Given the description of an element on the screen output the (x, y) to click on. 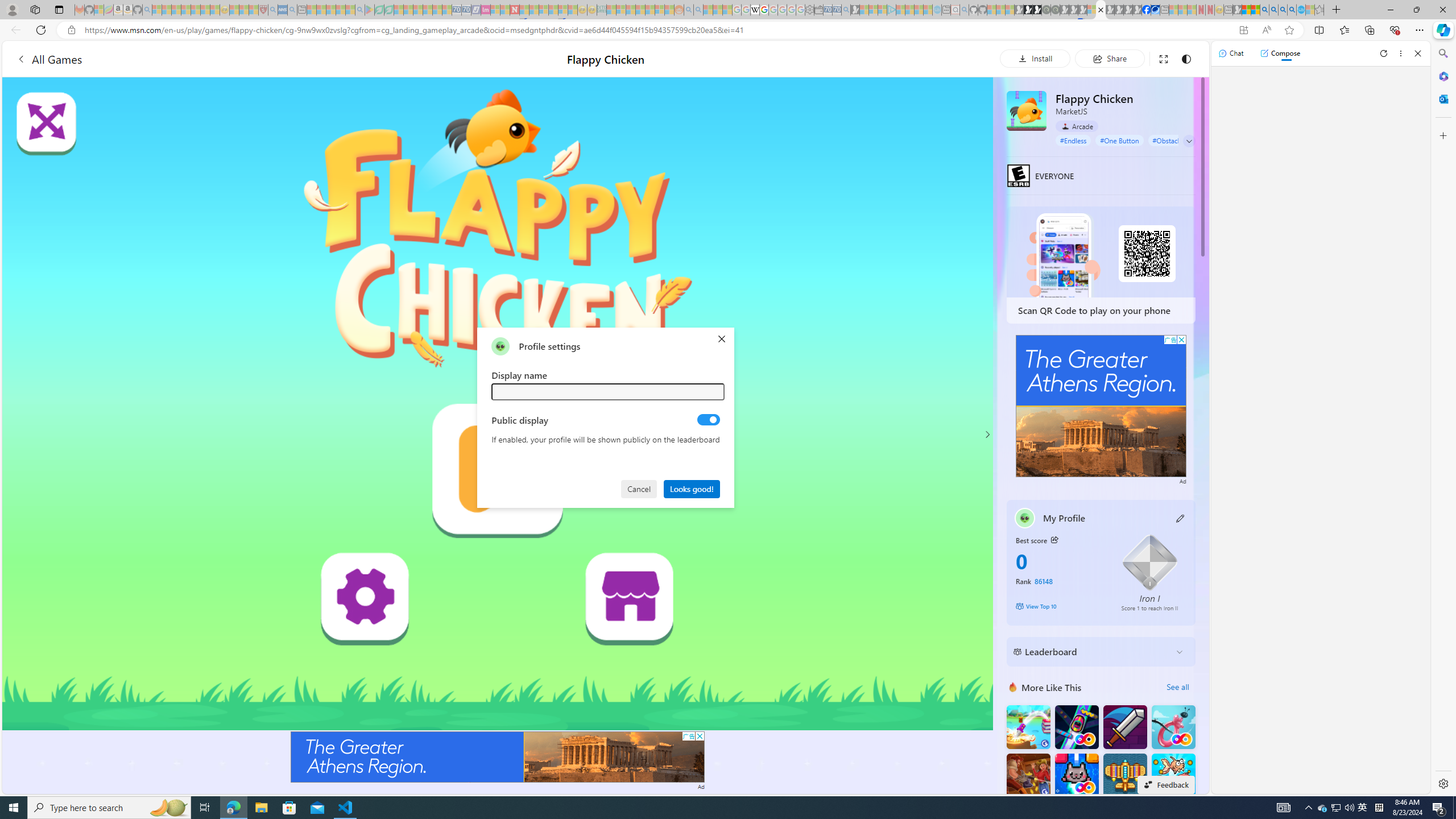
Looks good! (691, 488)
Class: button (1053, 539)
Google Chrome Internet Browser Download - Search Images (1291, 9)
Bing AI - Search (1264, 9)
Balloon FRVR (1173, 726)
Bumper Car FRVR (1076, 726)
